Given the description of an element on the screen output the (x, y) to click on. 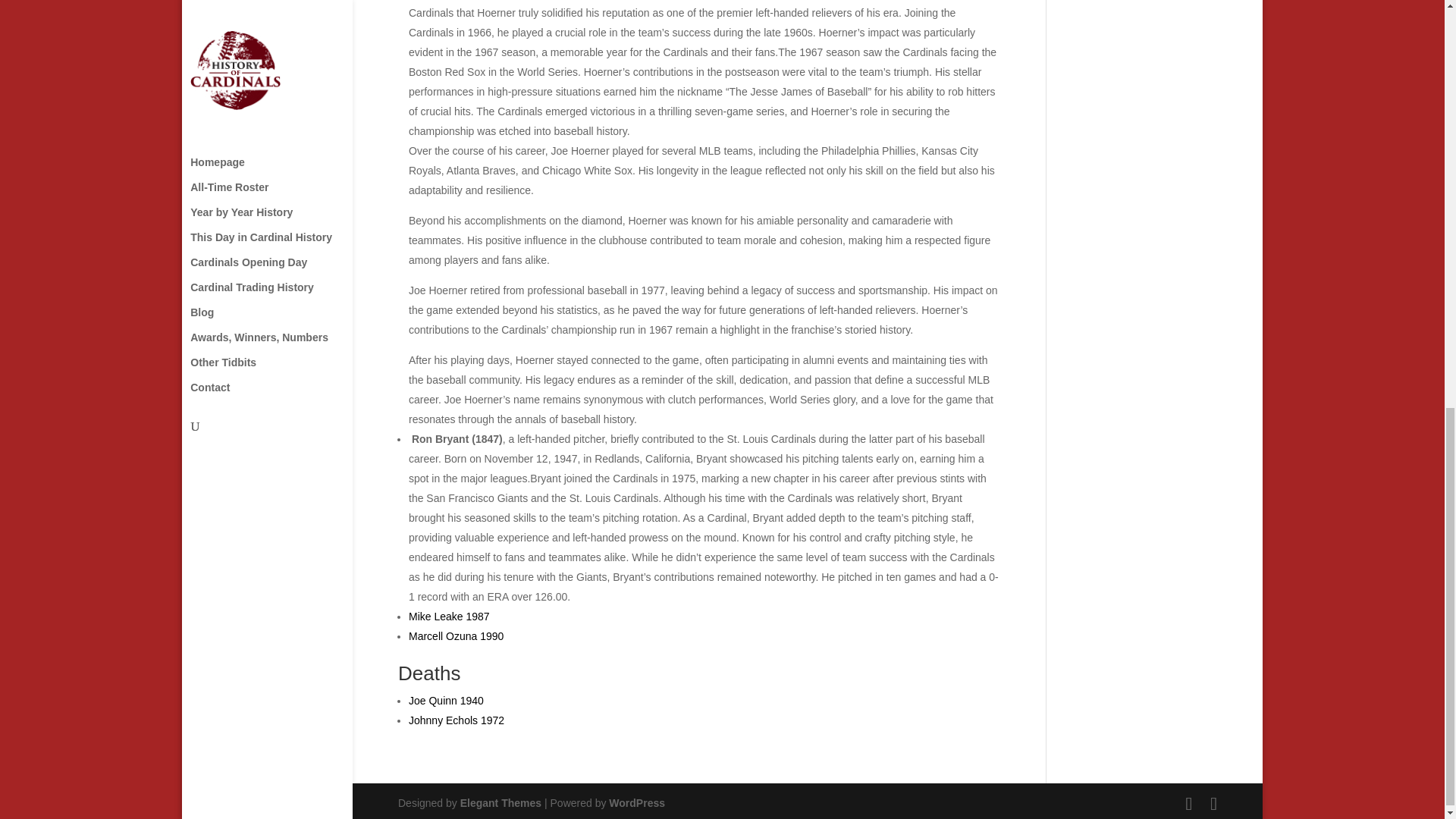
WordPress (636, 802)
Elegant Themes (500, 802)
Premium WordPress Themes (500, 802)
